Given the description of an element on the screen output the (x, y) to click on. 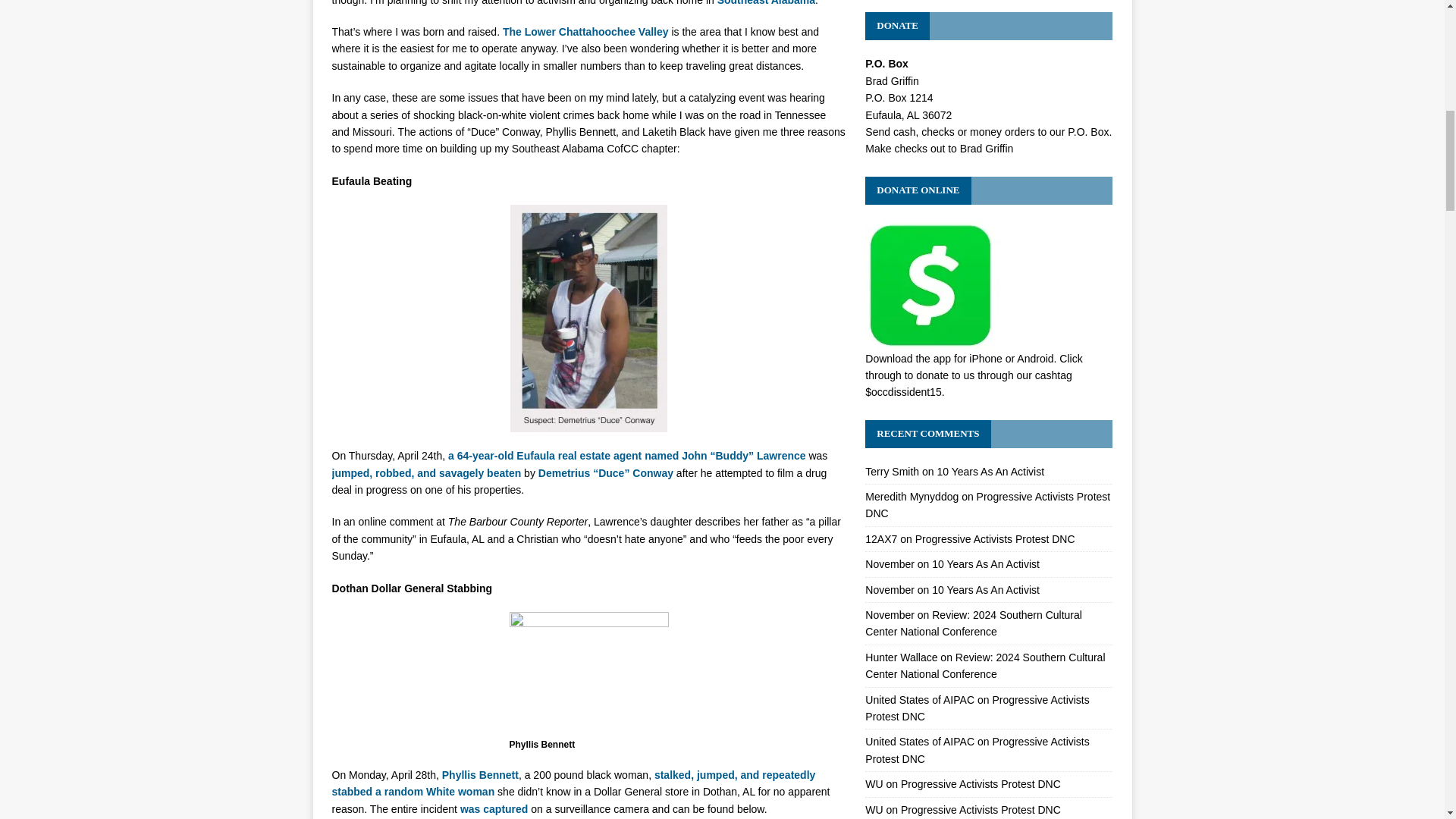
The Lower Chattahoochee Valley (585, 31)
Southeast Alabama (766, 2)
Phyllis Bennett (588, 672)
jumped, robbed, and savagely beaten (426, 472)
